Given the description of an element on the screen output the (x, y) to click on. 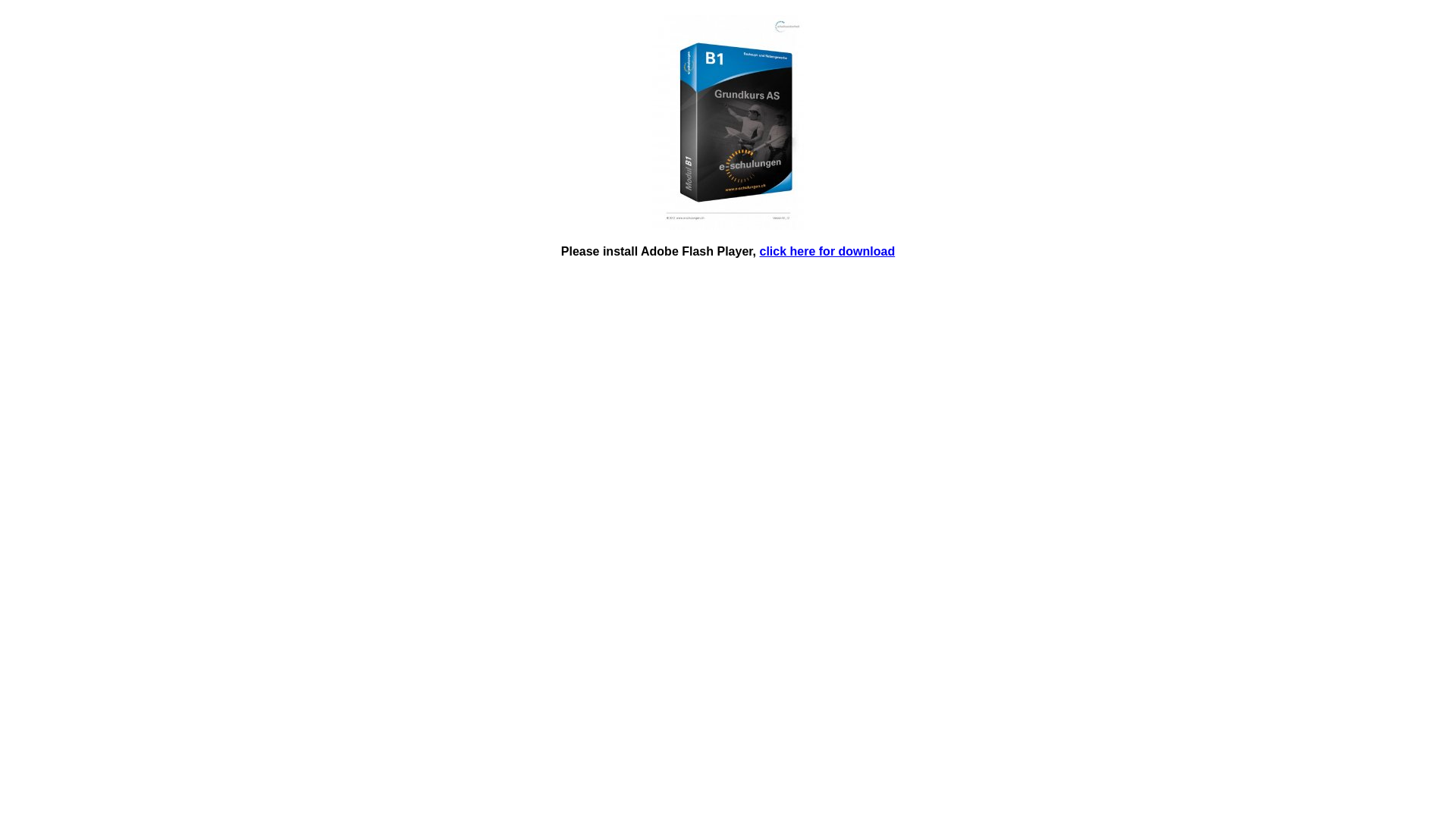
click here for download Element type: text (827, 250)
